Given the description of an element on the screen output the (x, y) to click on. 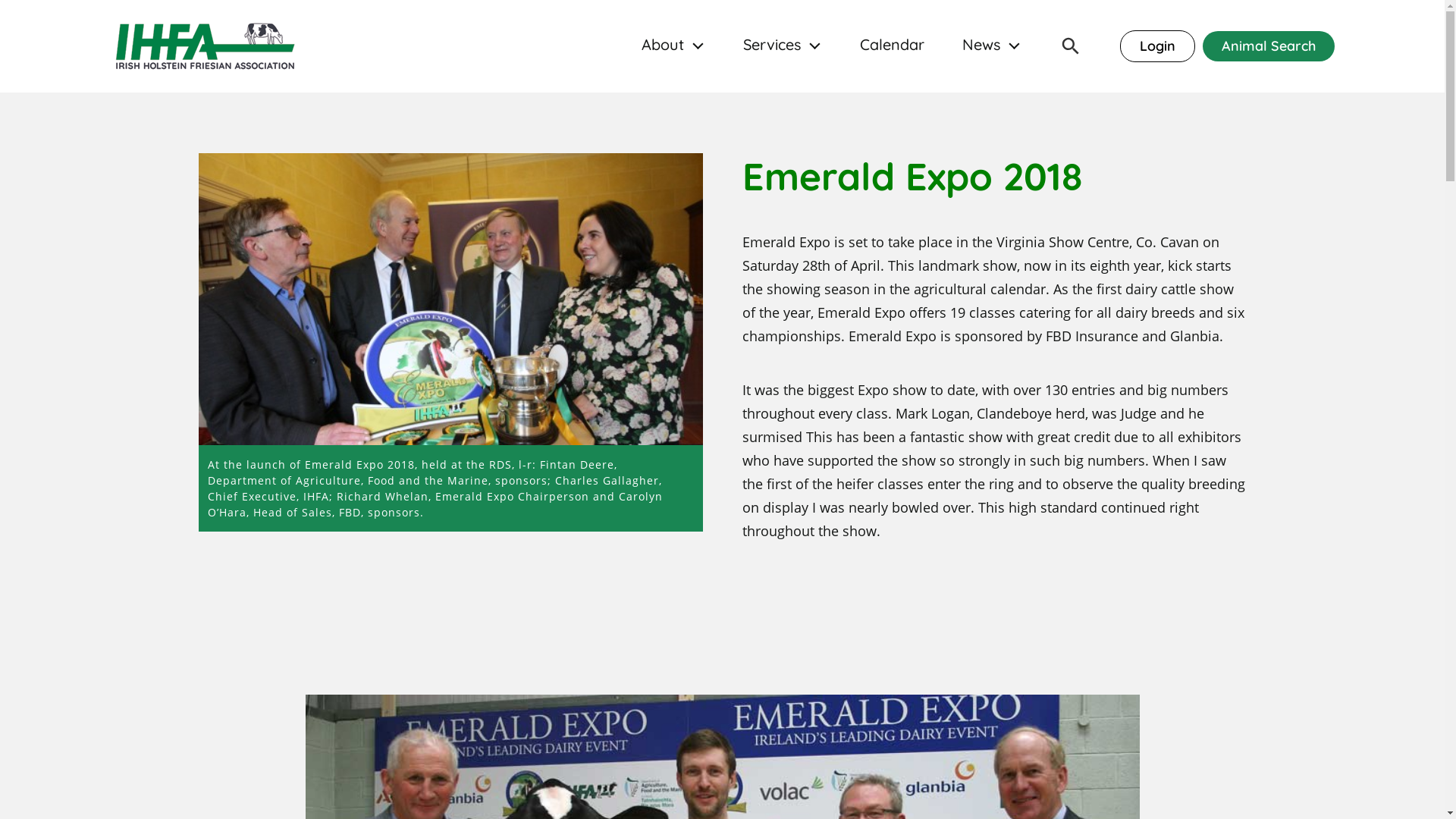
Calendar (892, 46)
Login (1157, 46)
Services (771, 46)
News (981, 46)
About (663, 46)
Animal Search (1268, 46)
